Given the description of an element on the screen output the (x, y) to click on. 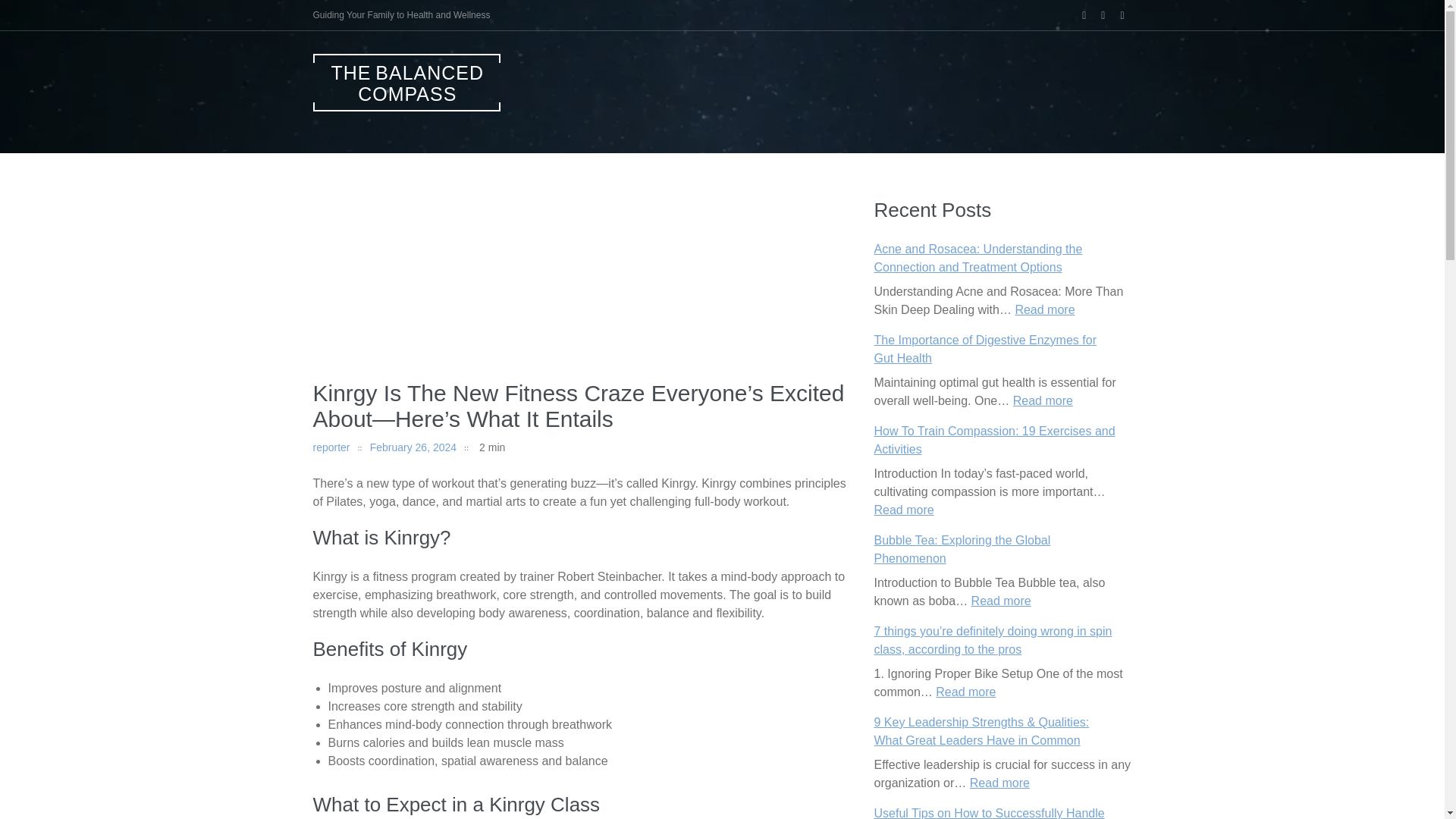
The Importance of Digestive Enzymes for Gut Health (984, 348)
February 26, 2024 (413, 447)
THE BALANCED COMPASS (406, 82)
How To Train Compassion: 19 Exercises and Activities (994, 440)
Reading Time (484, 447)
reporter (331, 447)
